Given the description of an element on the screen output the (x, y) to click on. 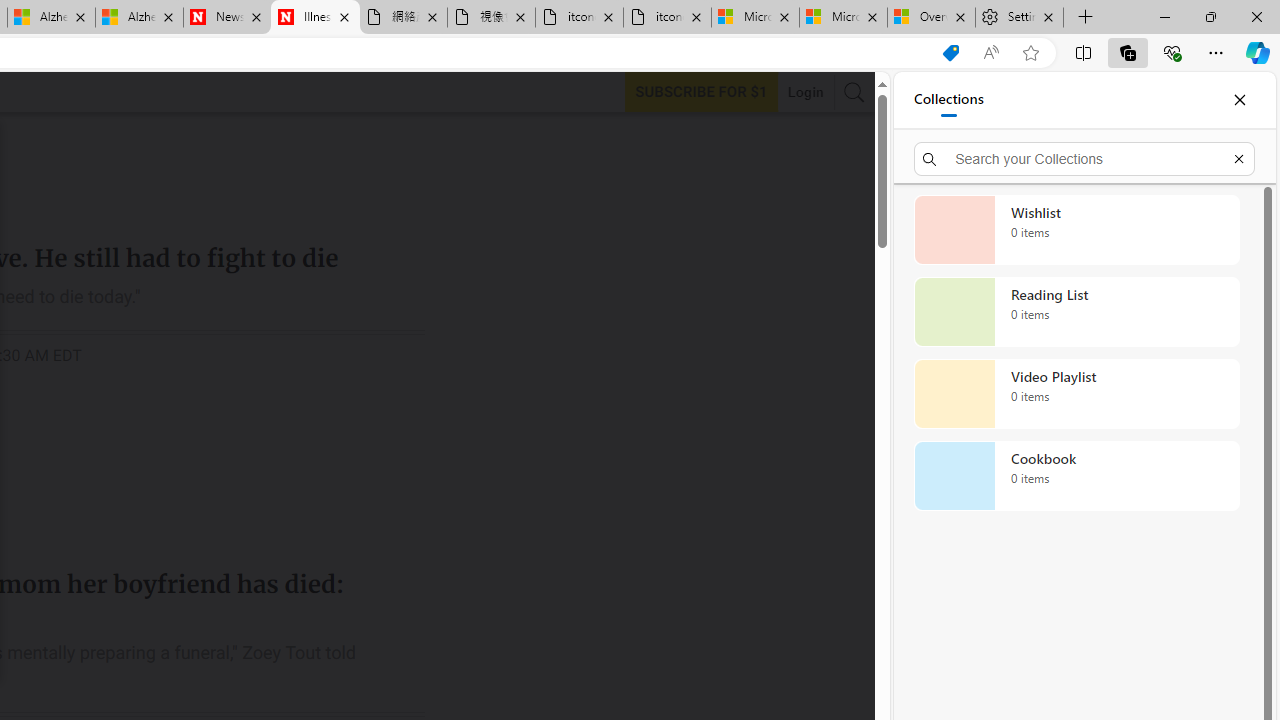
Minimize (1164, 16)
Add this page to favorites (Ctrl+D) (1030, 53)
Illness news & latest pictures from Newsweek.com (315, 17)
Split screen (1083, 52)
AutomationID: search-btn (854, 92)
Settings and more (Alt+F) (1215, 52)
Close tab (1048, 16)
Login (805, 92)
Search your Collections (1084, 158)
Collections (948, 99)
itconcepthk.com/projector_solutions.mp4 (666, 17)
Cookbook collection, 0 items (1076, 475)
Exit search (1238, 158)
